Given the description of an element on the screen output the (x, y) to click on. 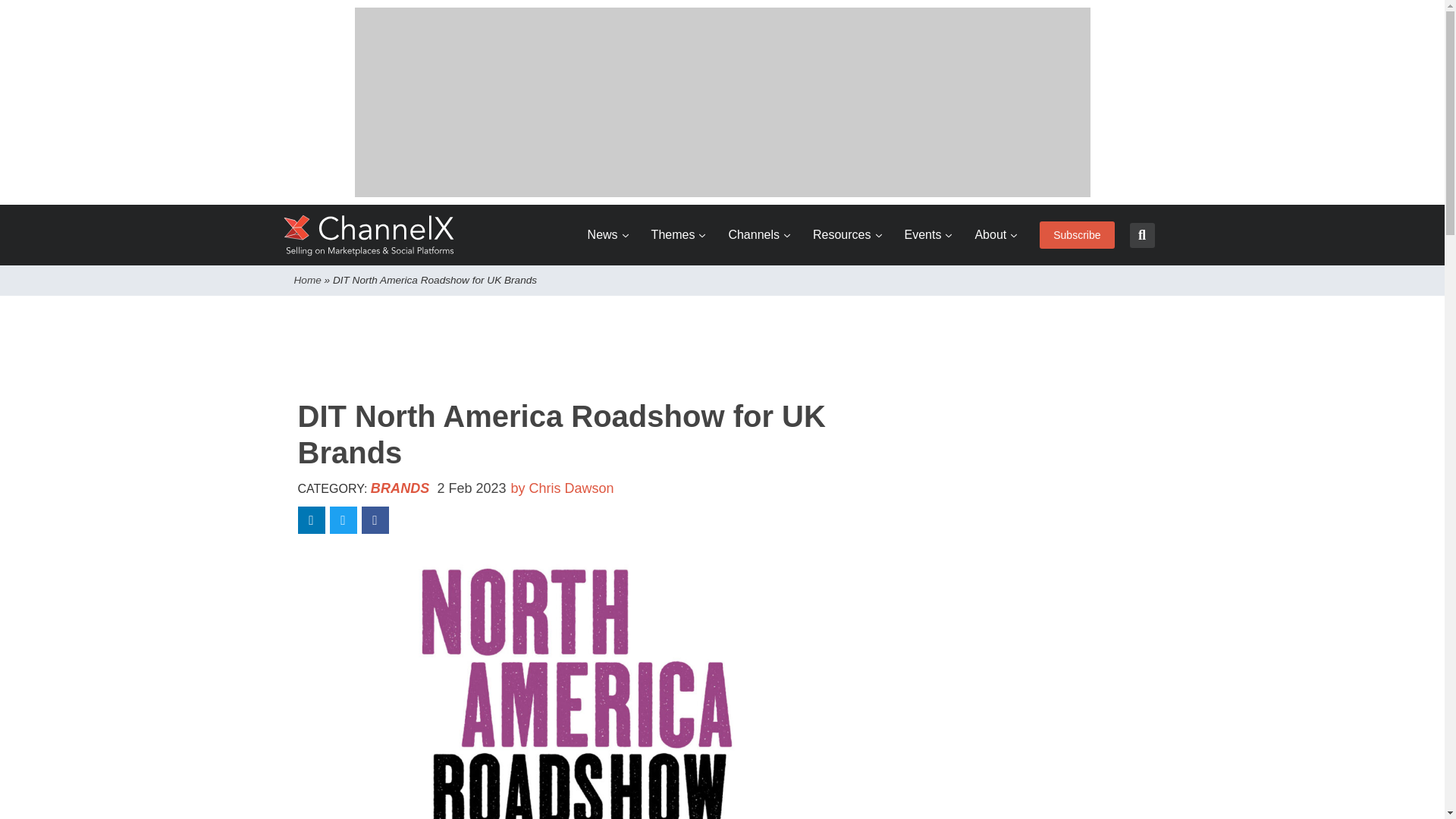
Resources (846, 234)
Themes (678, 234)
Channels (758, 234)
ChannelX Home Page (369, 234)
News (607, 234)
